Given the description of an element on the screen output the (x, y) to click on. 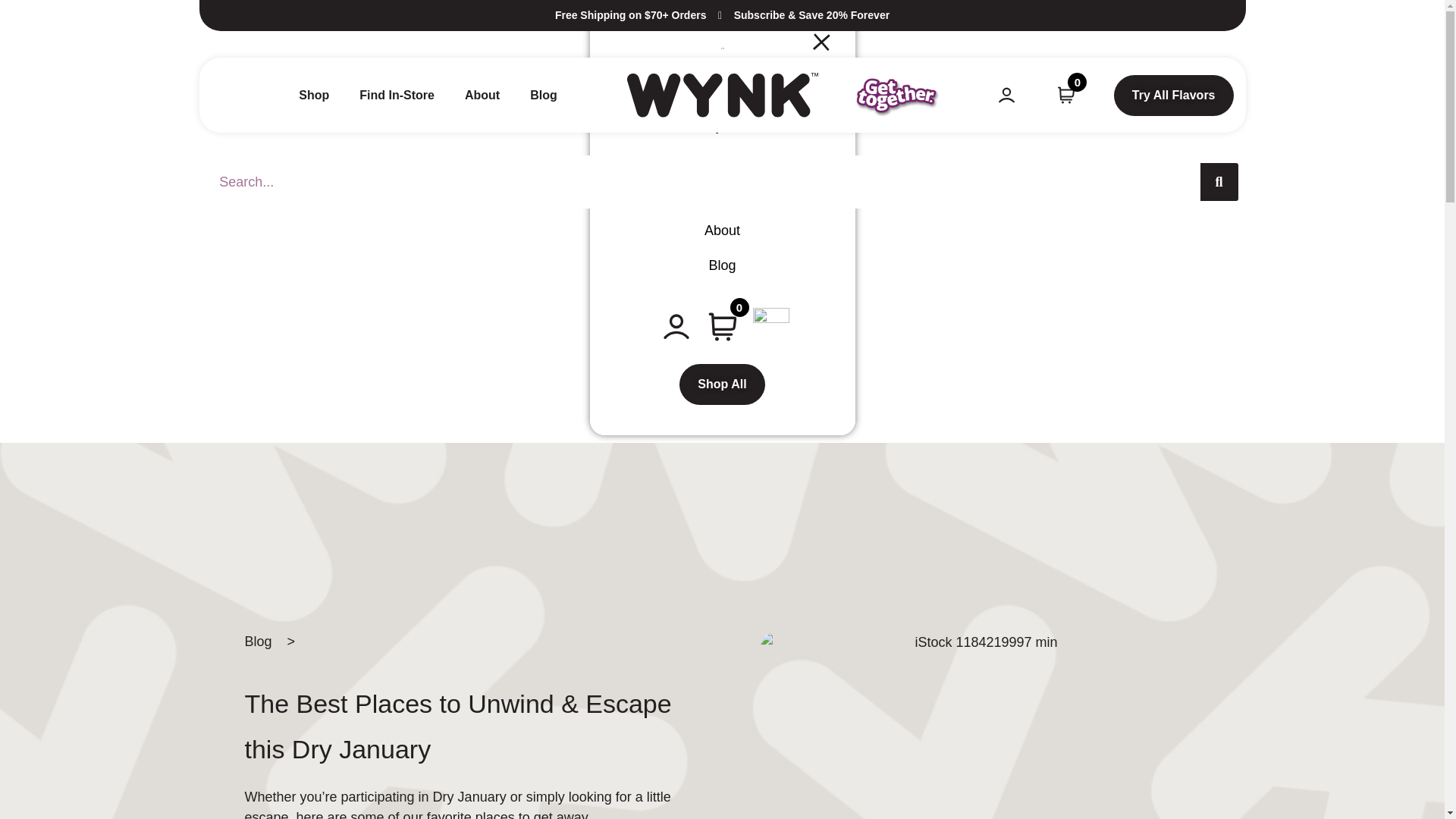
Variety Packs (722, 125)
Try All Flavors (1173, 95)
Find In-Store (721, 195)
About (721, 230)
0 (1066, 99)
About (481, 95)
Blog (721, 265)
Gift Cards (721, 160)
Find In-Store (396, 95)
Shop (313, 95)
